Given the description of an element on the screen output the (x, y) to click on. 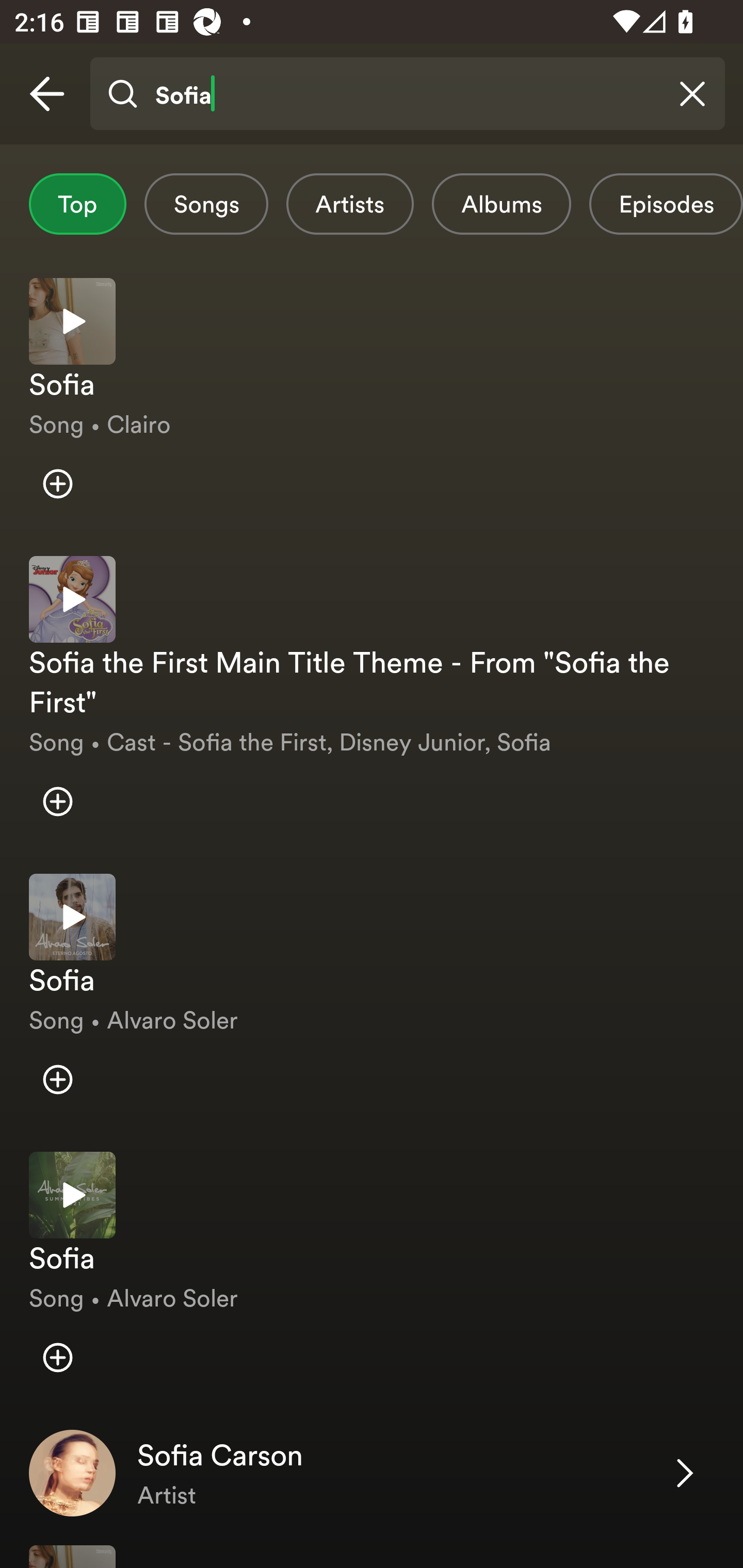
Back (46, 93)
Sofia Search (407, 94)
Clear Search (692, 94)
Top (77, 203)
Songs (206, 203)
Artists (349, 203)
Albums (501, 203)
Episodes (666, 203)
Play preview Sofia Song • Clairo Add item (371, 401)
Play preview (71, 321)
Add item (57, 483)
Play preview (71, 599)
Add item (57, 801)
Play preview Sofia Song • Alvaro Soler Add item (371, 997)
Play preview (71, 916)
Add item (57, 1079)
Play preview Sofia Song • Alvaro Soler Add item (371, 1275)
Play preview (71, 1195)
Add item (57, 1356)
Sofia Carson Artist (371, 1472)
